Given the description of an element on the screen output the (x, y) to click on. 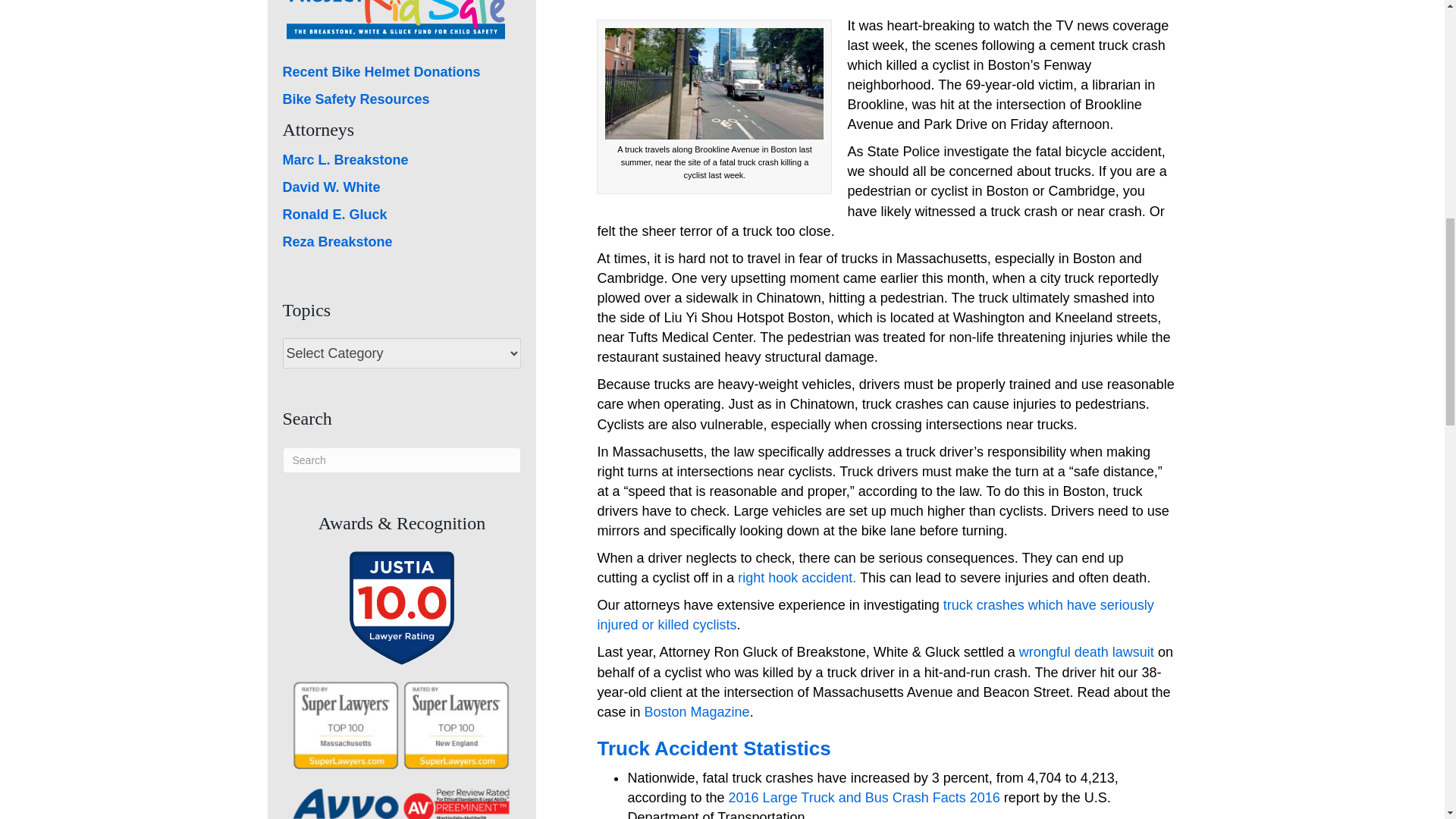
right hook accident. (797, 577)
Reza Breakstone (336, 241)
Marc L. Breakstone (344, 159)
Boston Magazine (697, 711)
Type and press Enter to search. (401, 460)
Ronald E. Gluck (334, 214)
David W. White (331, 186)
Bike Safety Resources (355, 99)
2016 Large Truck and Bus Crash Facts 2016 (864, 797)
Recent Bike Helmet Donations (381, 71)
wrongful death lawsuit (1086, 652)
